Given the description of an element on the screen output the (x, y) to click on. 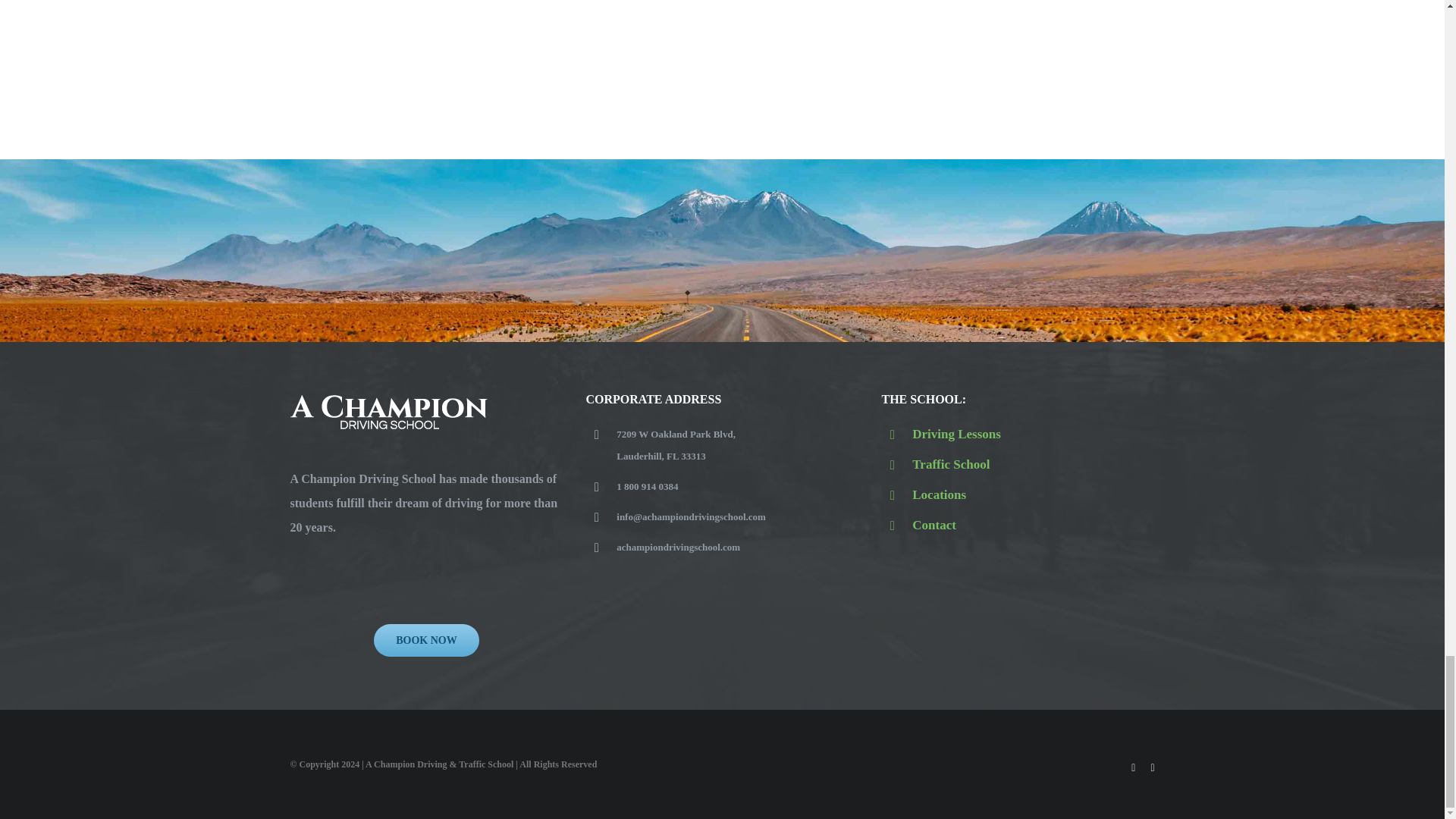
Instagram (1152, 767)
Facebook (1133, 767)
